Given the description of an element on the screen output the (x, y) to click on. 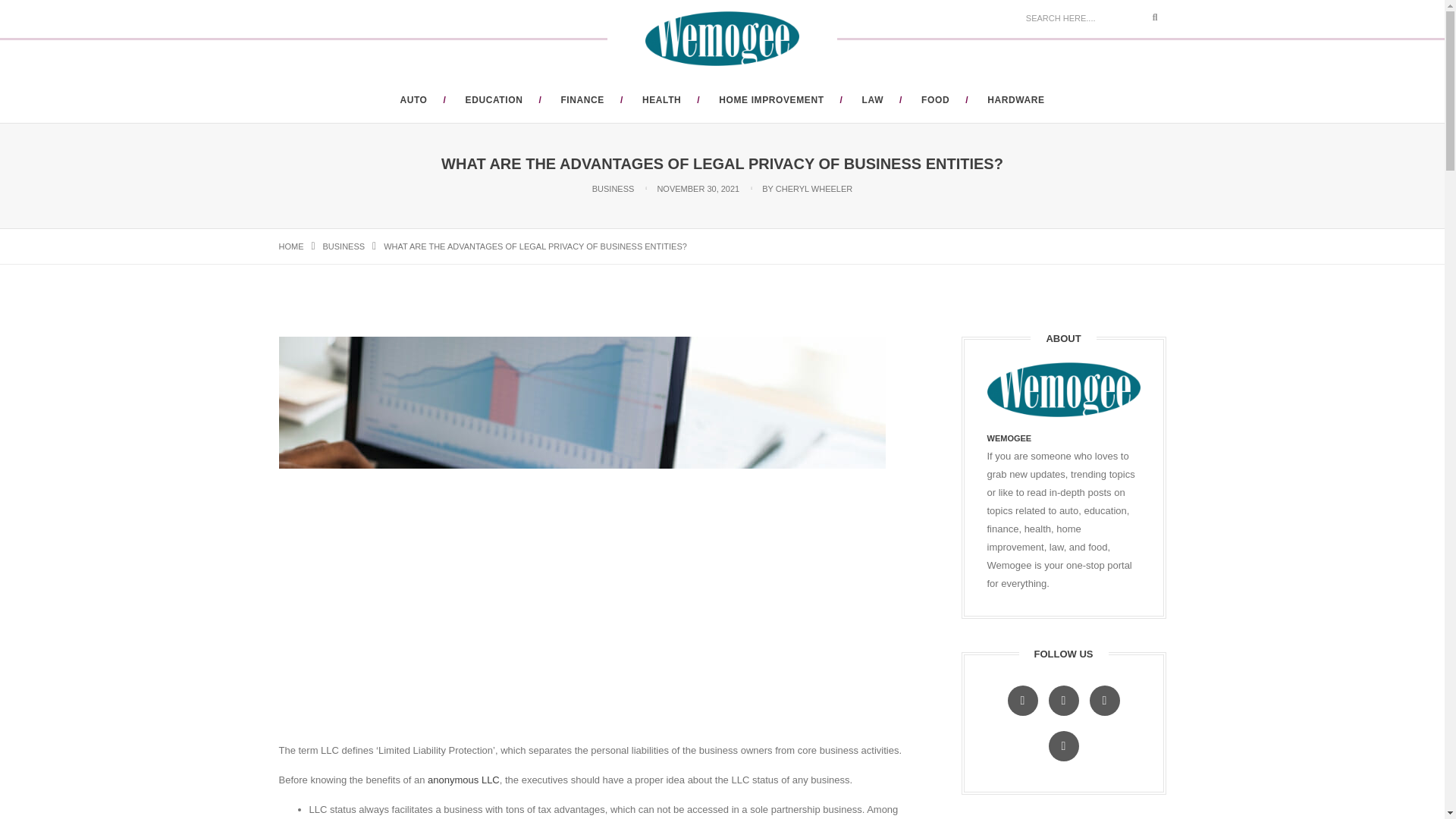
BUSINESS (613, 188)
HARDWARE (1015, 100)
anonymous LLC (463, 779)
HEALTH (661, 100)
CHERYL WHEELER (813, 188)
HOME IMPROVEMENT (771, 100)
AUTO (412, 100)
BUSINESS (344, 245)
EDUCATION (493, 100)
Browse to: Home (291, 245)
